Given the description of an element on the screen output the (x, y) to click on. 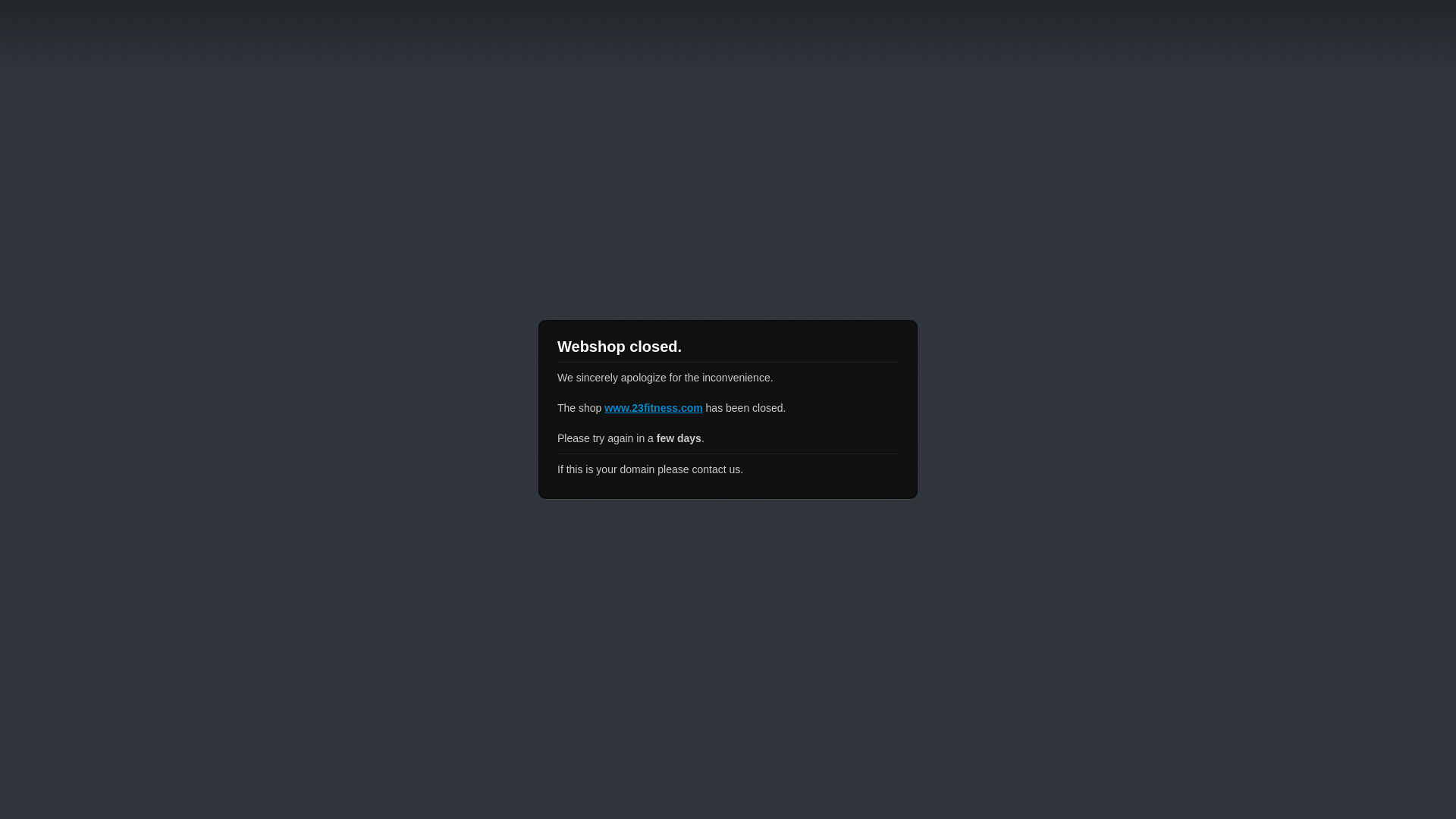
www.23fitness.com Element type: text (653, 407)
